Given the description of an element on the screen output the (x, y) to click on. 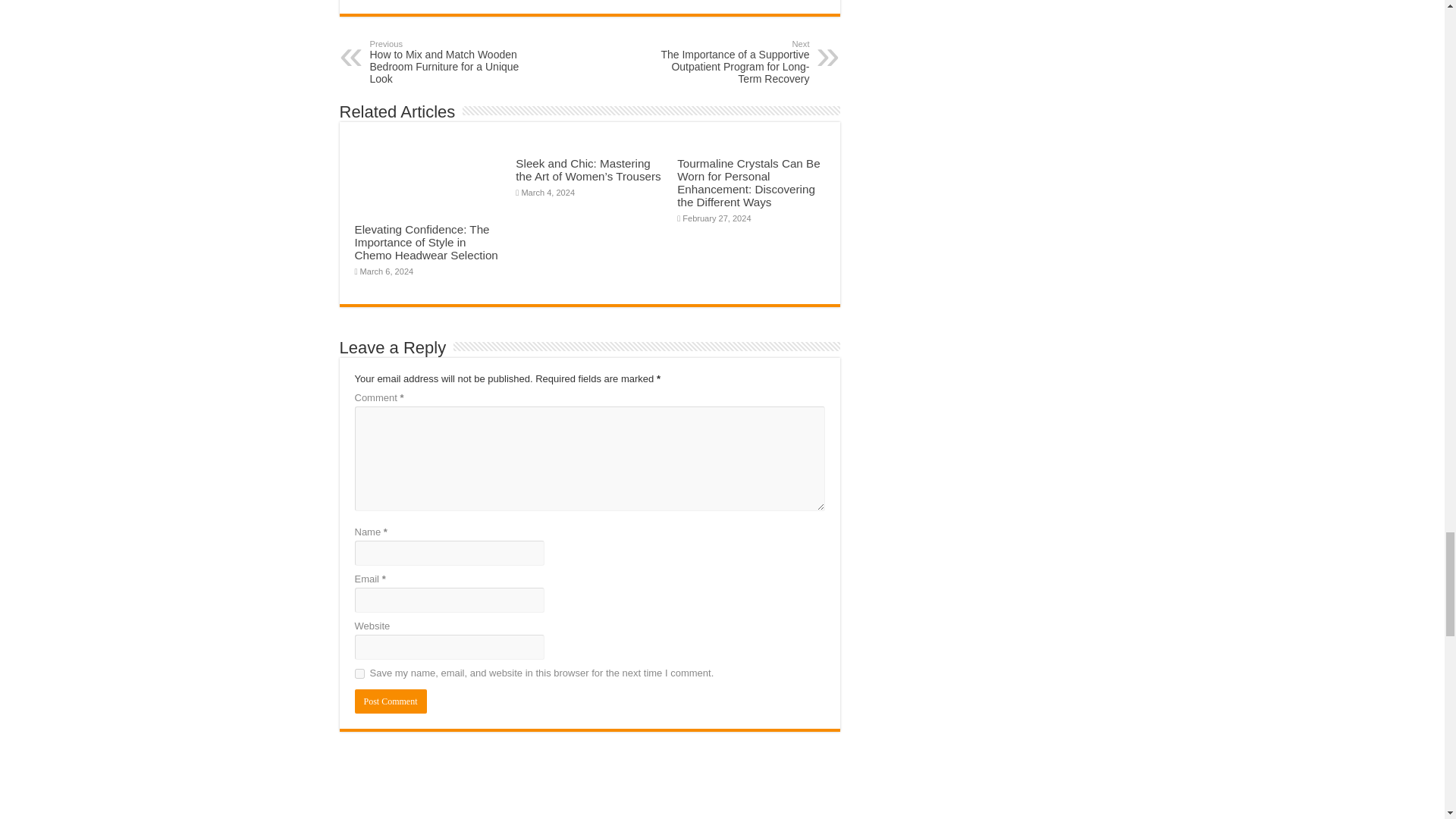
Post Comment (390, 701)
yes (360, 673)
